Given the description of an element on the screen output the (x, y) to click on. 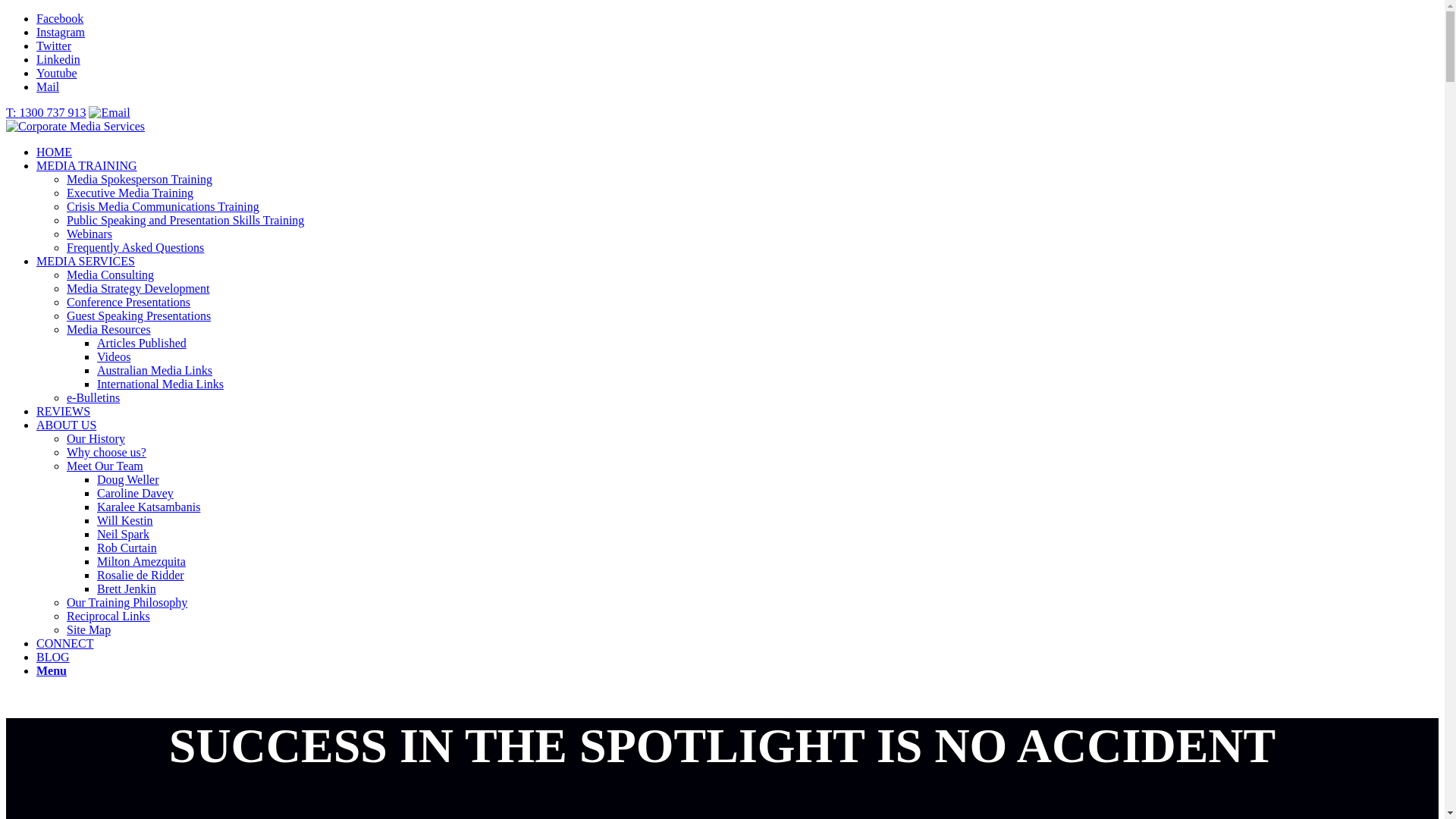
BLOG Element type: text (52, 656)
Articles Published Element type: text (141, 342)
Site Map Element type: text (88, 629)
International Media Links Element type: text (160, 383)
Media Resources Element type: text (108, 329)
Guest Speaking Presentations Element type: text (138, 315)
Milton Amezquita Element type: text (141, 561)
Webinars Element type: text (89, 233)
Why choose us? Element type: text (106, 451)
MEDIA TRAINING Element type: text (86, 165)
Australian Media Links Element type: text (154, 370)
Our Training Philosophy Element type: text (126, 602)
Public Speaking and Presentation Skills Training Element type: text (185, 219)
Facebook Element type: text (59, 18)
Rosalie de Ridder Element type: text (140, 574)
Linkedin Element type: text (58, 59)
REVIEWS Element type: text (63, 410)
Mail Element type: text (47, 86)
Twitter Element type: text (53, 45)
Neil Spark Element type: text (123, 533)
CONNECT Element type: text (65, 643)
HOME Element type: text (54, 151)
T: 1300 737 913 Element type: text (45, 112)
Brett Jenkin Element type: text (126, 588)
Media Strategy Development Element type: text (137, 288)
Crisis Media Communications Training Element type: text (162, 206)
Caroline Davey Element type: text (135, 492)
Rob Curtain Element type: text (126, 547)
Menu Element type: text (51, 670)
Will Kestin Element type: text (125, 520)
Our History Element type: text (95, 438)
Karalee Katsambanis Element type: text (148, 506)
Doug Weller Element type: text (128, 479)
Videos Element type: text (113, 356)
e-Bulletins Element type: text (92, 397)
Meet Our Team Element type: text (104, 465)
Reciprocal Links Element type: text (108, 615)
ABOUT US Element type: text (66, 424)
Executive Media Training Element type: text (129, 192)
Conference Presentations Element type: text (128, 301)
Frequently Asked Questions Element type: text (134, 247)
Instagram Element type: text (60, 31)
Media Consulting Element type: text (109, 274)
Youtube Element type: text (56, 72)
MEDIA SERVICES Element type: text (85, 260)
Media Spokesperson Training Element type: text (139, 178)
